Given the description of an element on the screen output the (x, y) to click on. 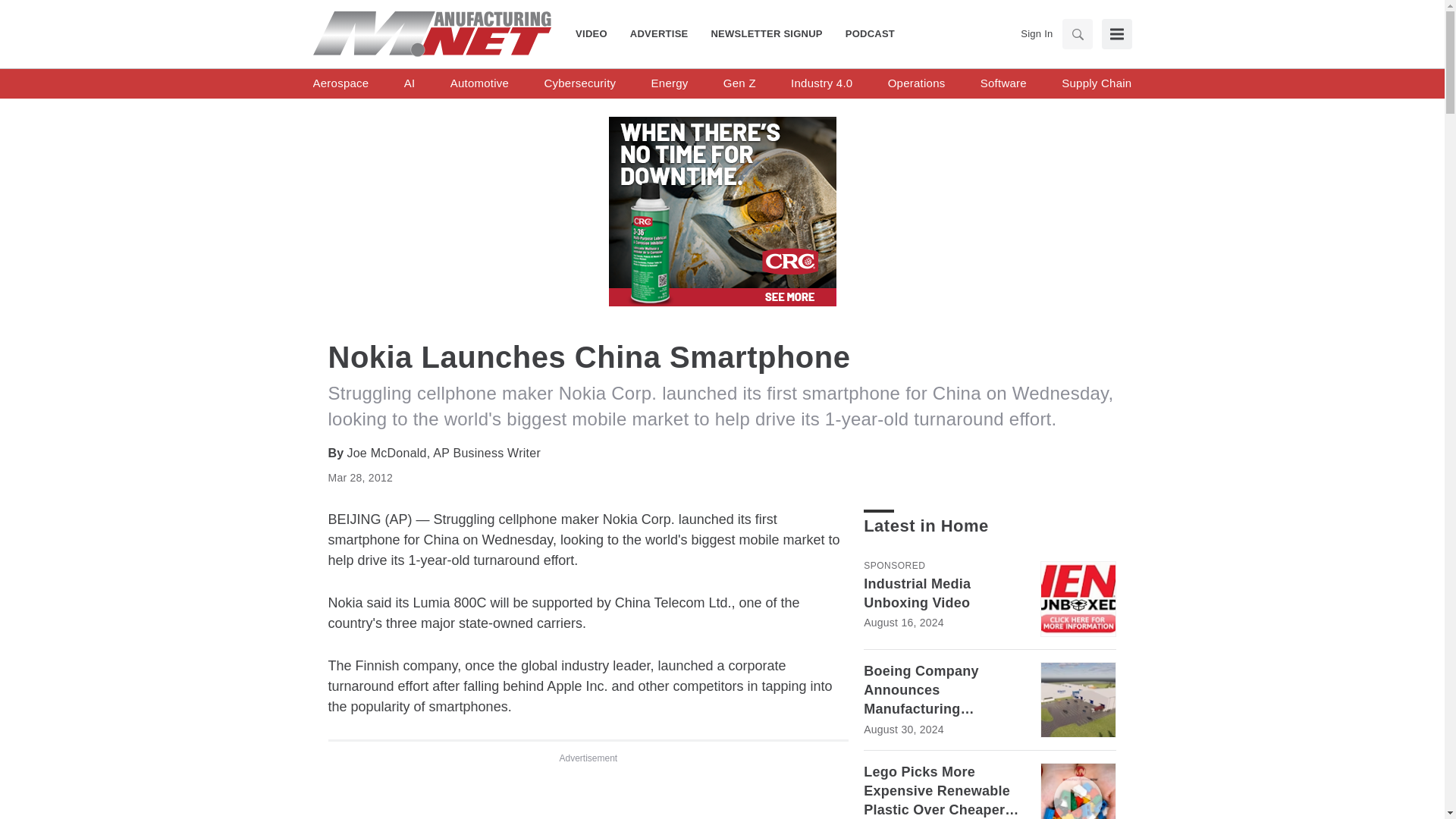
Energy (669, 83)
Industry 4.0 (820, 83)
3rd party ad content (587, 796)
Software (1002, 83)
Sign In (1036, 33)
Gen Z (739, 83)
Cybersecurity (579, 83)
Operations (916, 83)
VIDEO (596, 33)
Supply Chain (1096, 83)
